Given the description of an element on the screen output the (x, y) to click on. 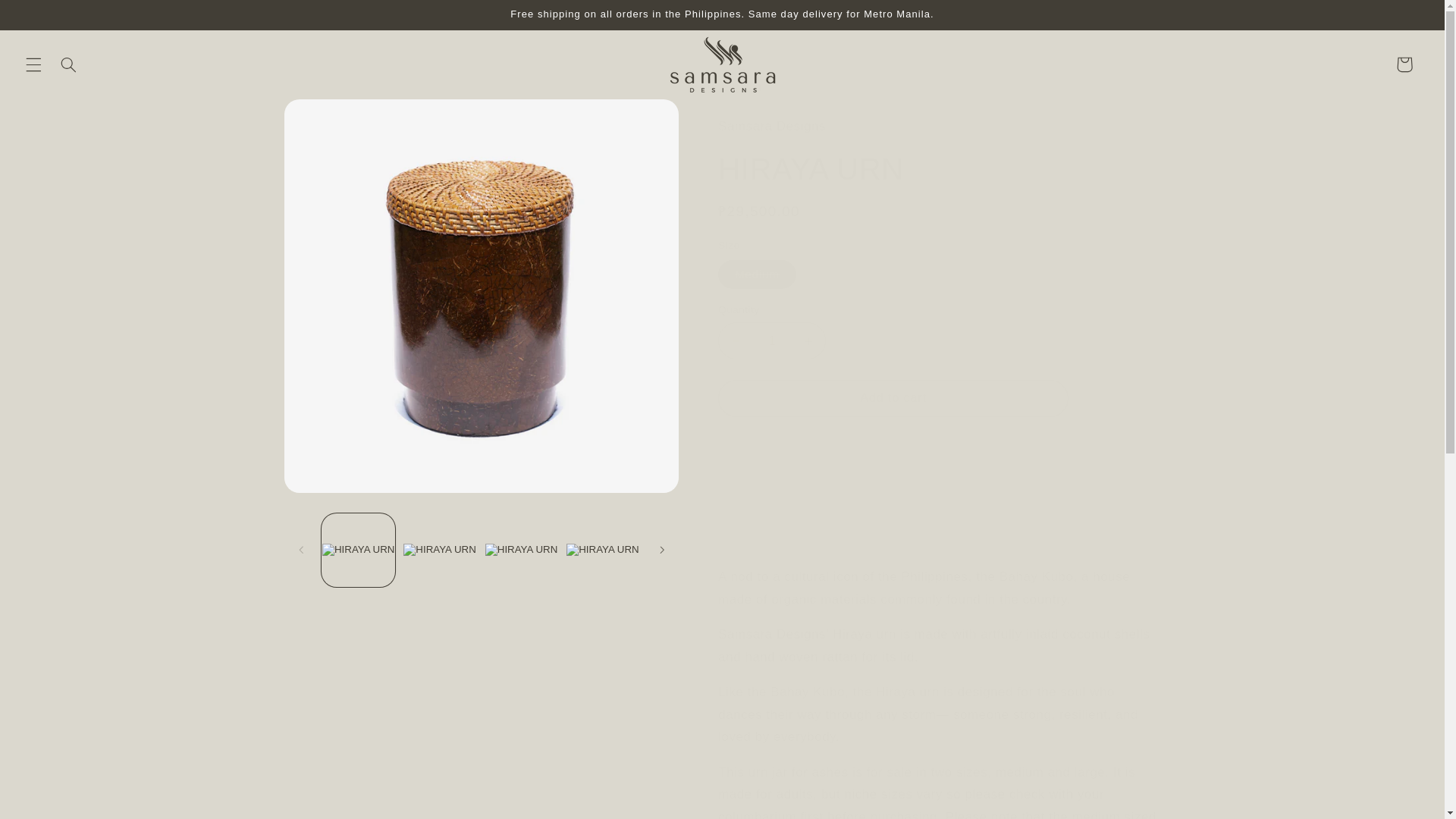
Skip to product information (331, 116)
1 (771, 340)
Skip to content (48, 18)
Cart (1404, 63)
